Given the description of an element on the screen output the (x, y) to click on. 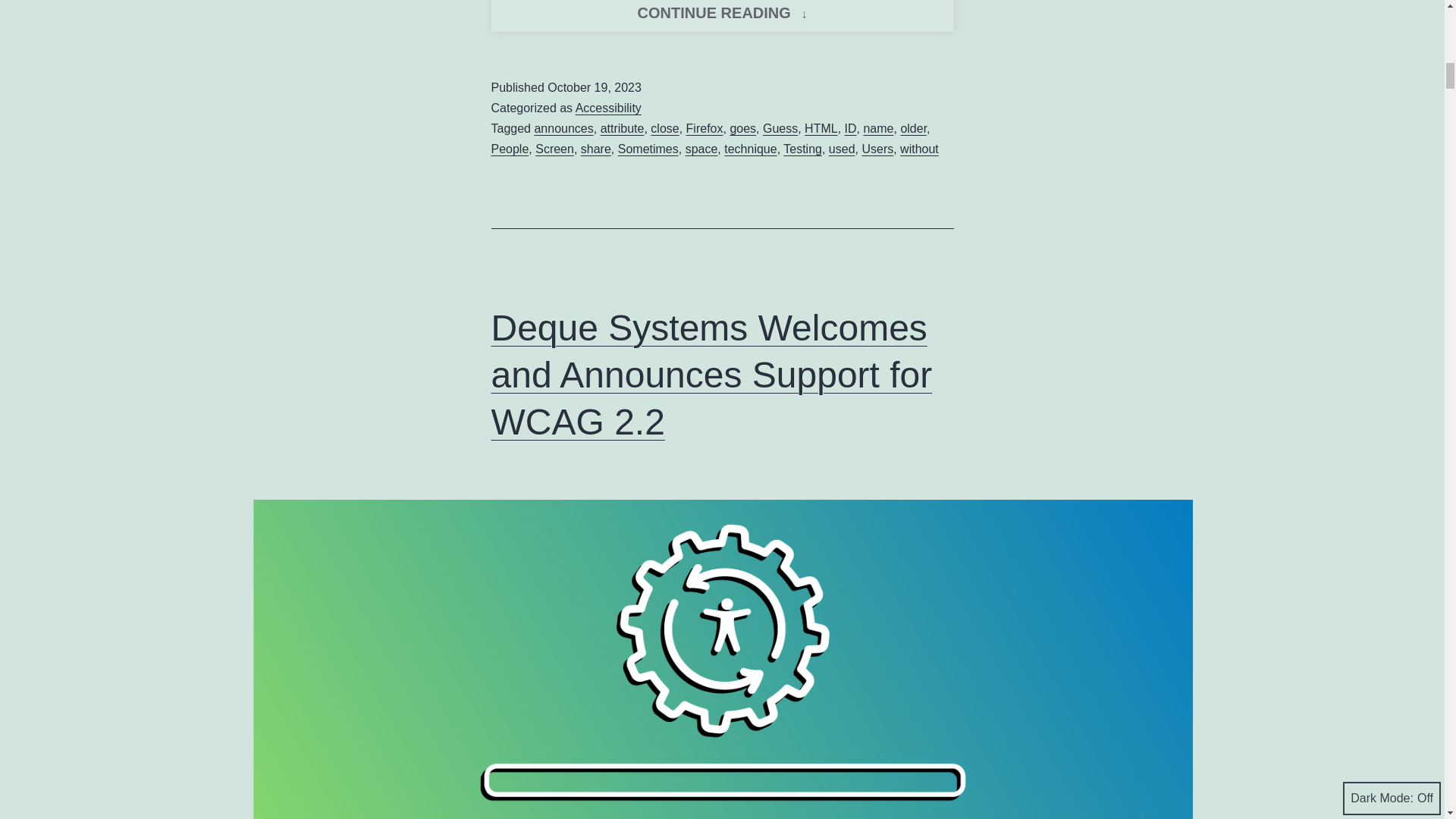
Guess (779, 128)
close (722, 15)
HTML (664, 128)
announces (821, 128)
Firefox (563, 128)
attribute (704, 128)
Accessibility (622, 128)
goes (608, 107)
